Given the description of an element on the screen output the (x, y) to click on. 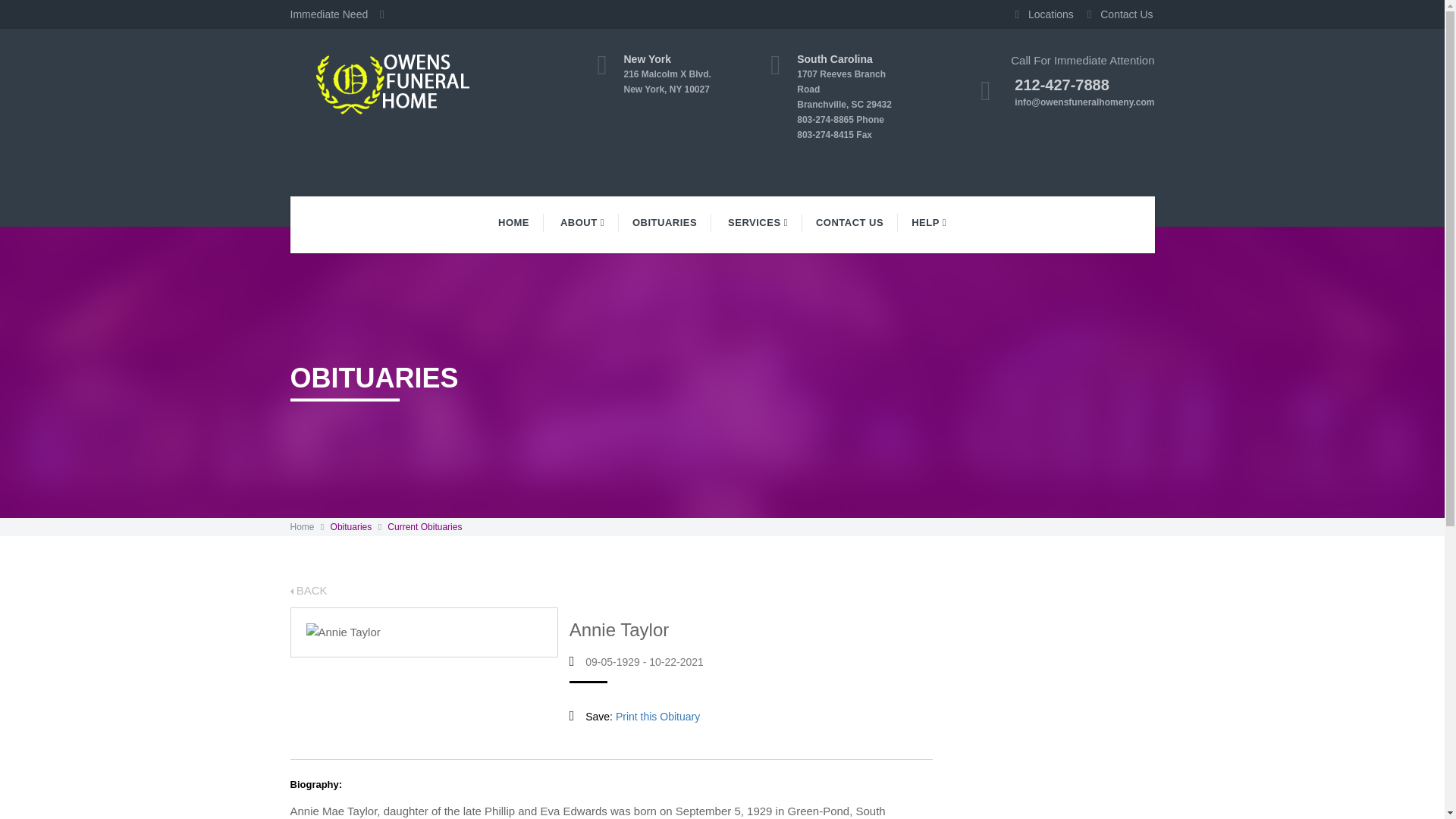
Locations (1039, 14)
HELP (928, 222)
BACK (307, 590)
ABOUT (582, 222)
Contact Us (1115, 14)
CONTACT US (850, 222)
Print this Obituary (657, 716)
Immediate Need (341, 14)
SERVICES (679, 74)
OBITUARIES (758, 222)
HOME (664, 222)
